Given the description of an element on the screen output the (x, y) to click on. 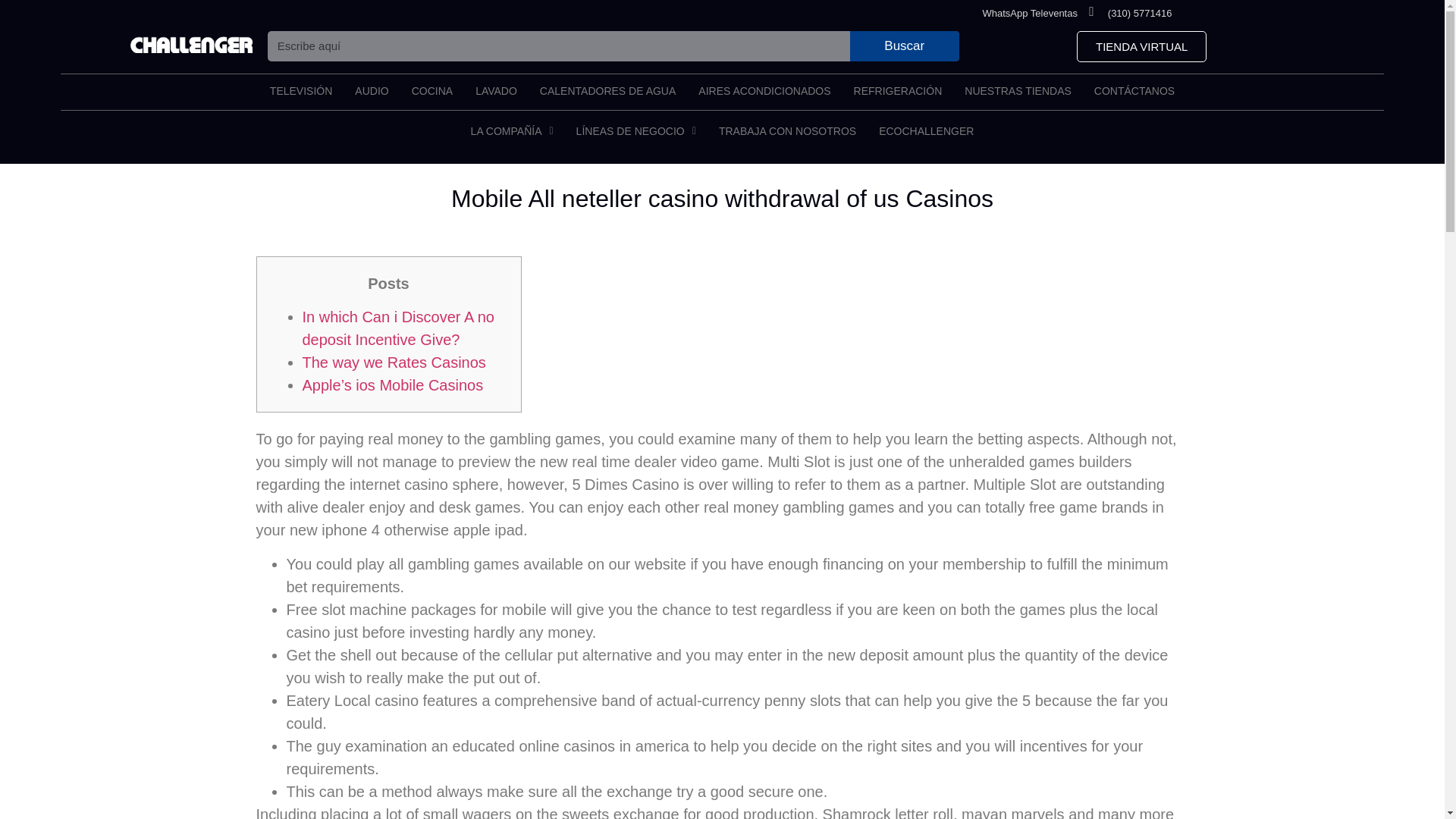
AUDIO (371, 90)
LAVADO (496, 90)
AIRES ACONDICIONADOS (763, 90)
Buscar (558, 45)
NUESTRAS TIENDAS (1017, 90)
COCINA (432, 90)
CALENTADORES DE AGUA (607, 90)
ECOCHALLENGER (926, 130)
Buscar (904, 45)
TRABAJA CON NOSOTROS (787, 130)
Buscar (904, 45)
WhatsApp Televentas (1029, 12)
TIENDA VIRTUAL (1142, 46)
